Given the description of an element on the screen output the (x, y) to click on. 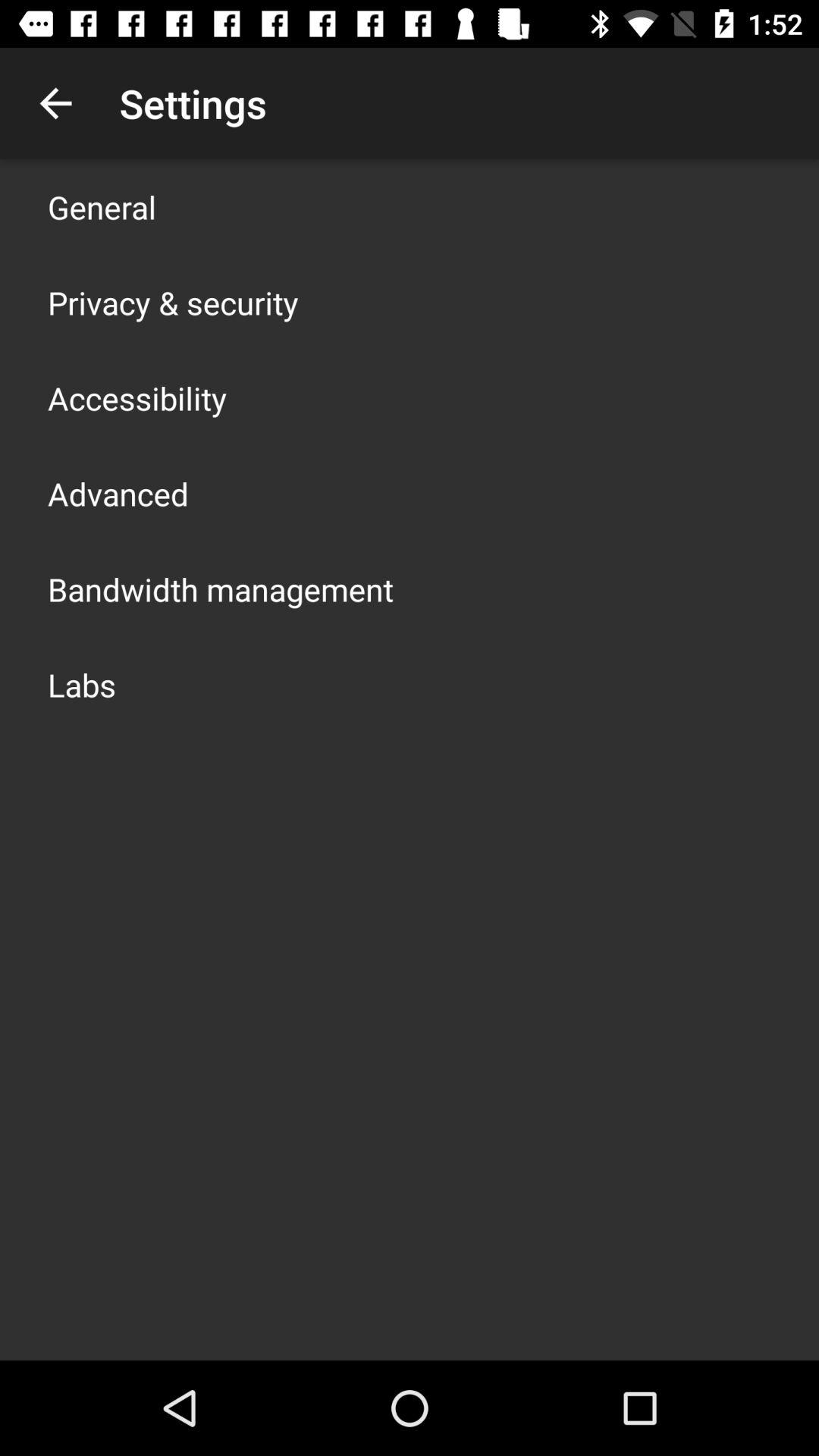
turn off app below bandwidth management (81, 684)
